Given the description of an element on the screen output the (x, y) to click on. 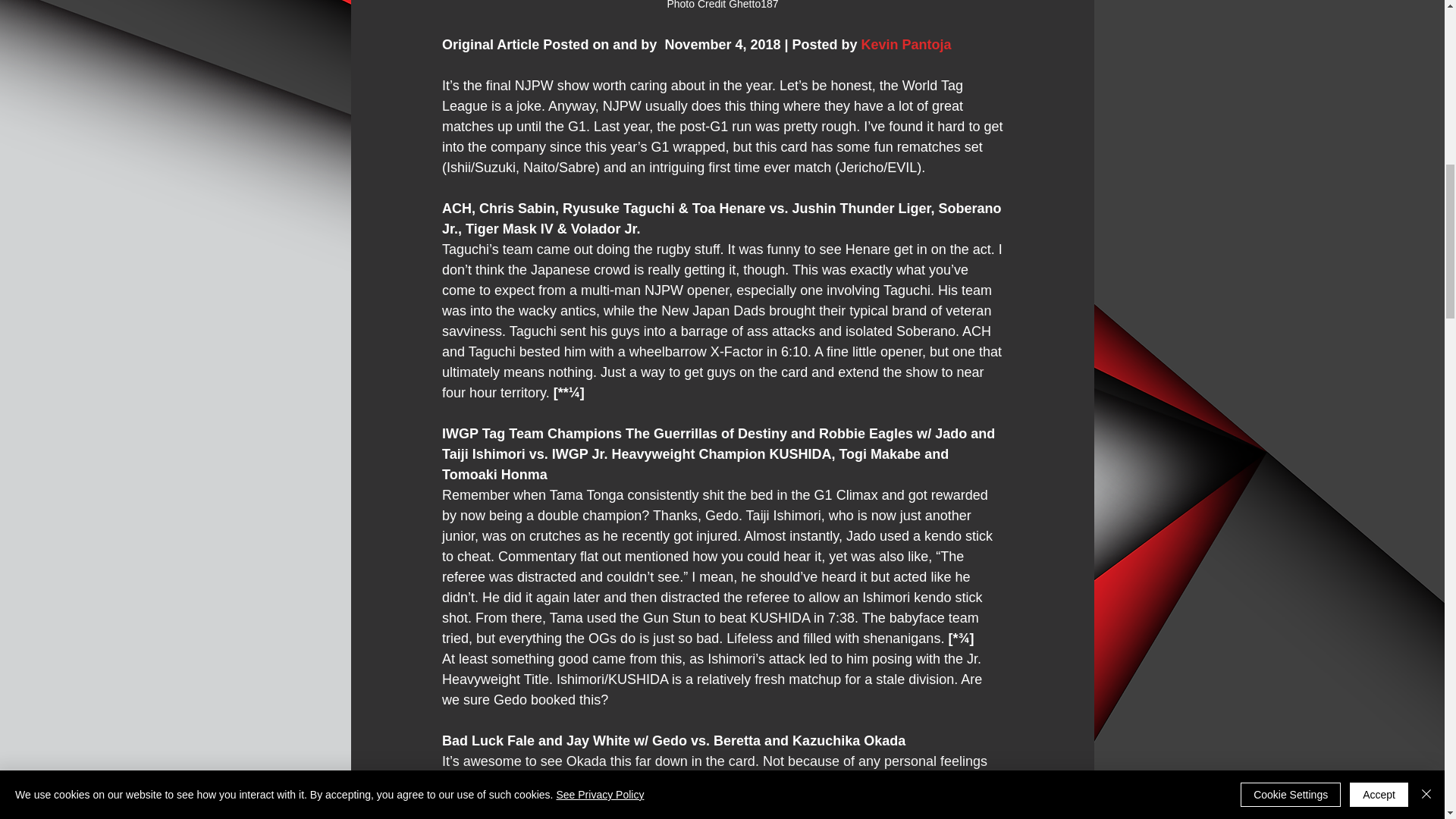
Kevin Pantoja (905, 44)
